Given the description of an element on the screen output the (x, y) to click on. 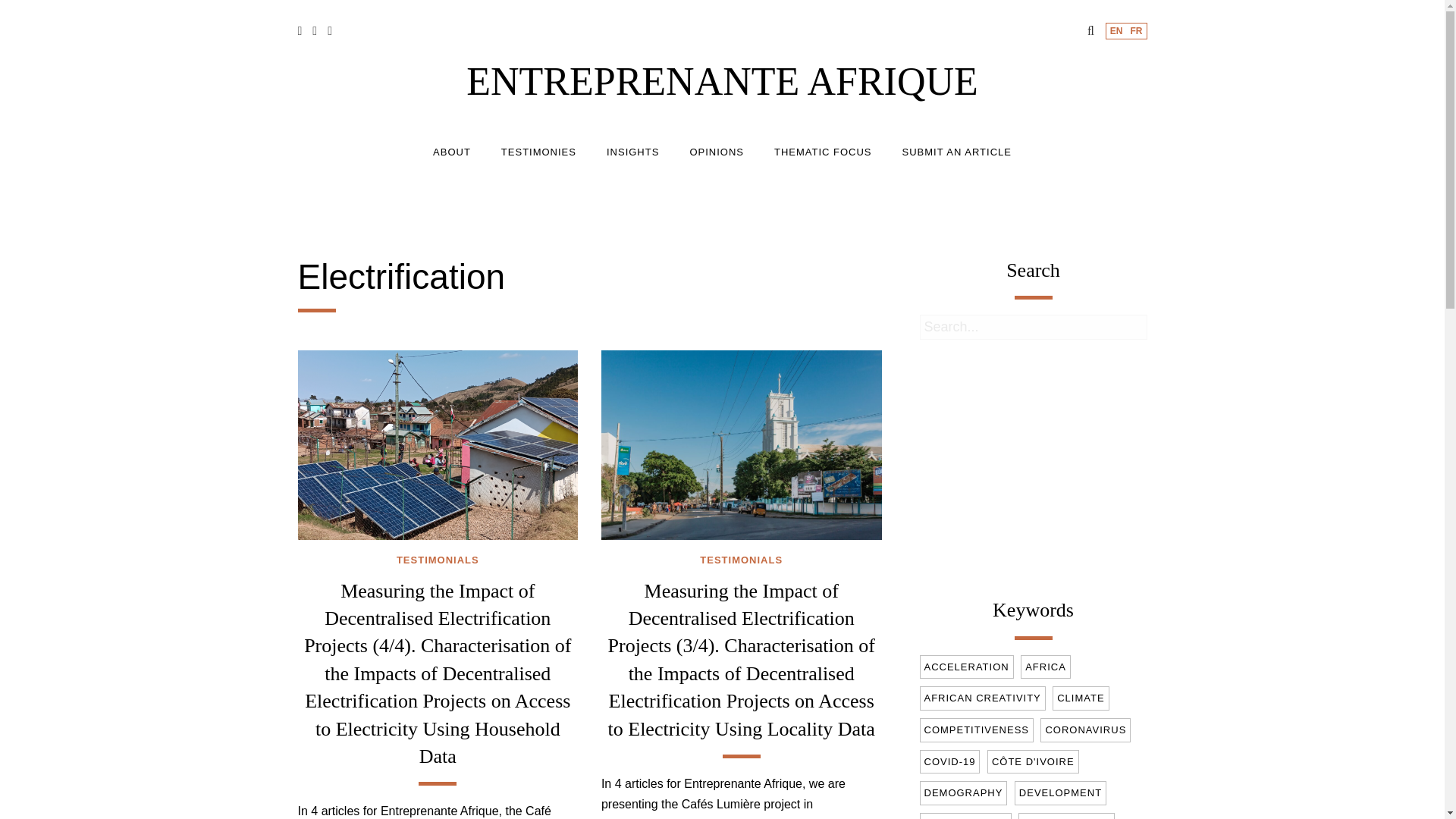
SUBMIT AN ARTICLE (956, 152)
EN (1116, 30)
FR (1136, 30)
TESTIMONIES (538, 152)
ABOUT (451, 152)
TESTIMONIALS (437, 560)
THEMATIC FOCUS (823, 152)
OPINIONS (716, 152)
ENTREPRENANTE AFRIQUE (721, 81)
INSIGHTS (633, 152)
